Given the description of an element on the screen output the (x, y) to click on. 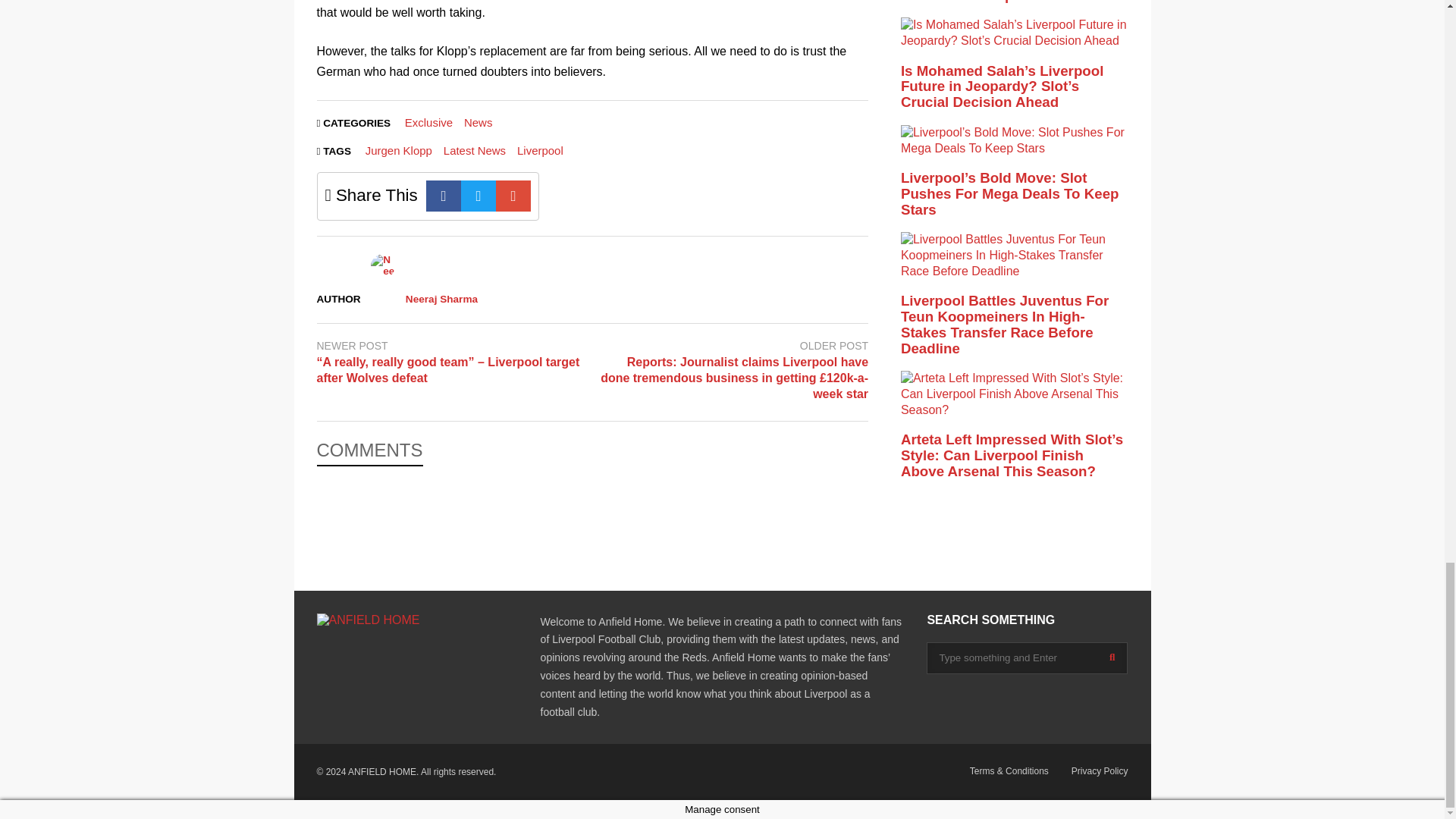
Twitter (478, 195)
Google-plus (513, 195)
Facebook (443, 195)
